Given the description of an element on the screen output the (x, y) to click on. 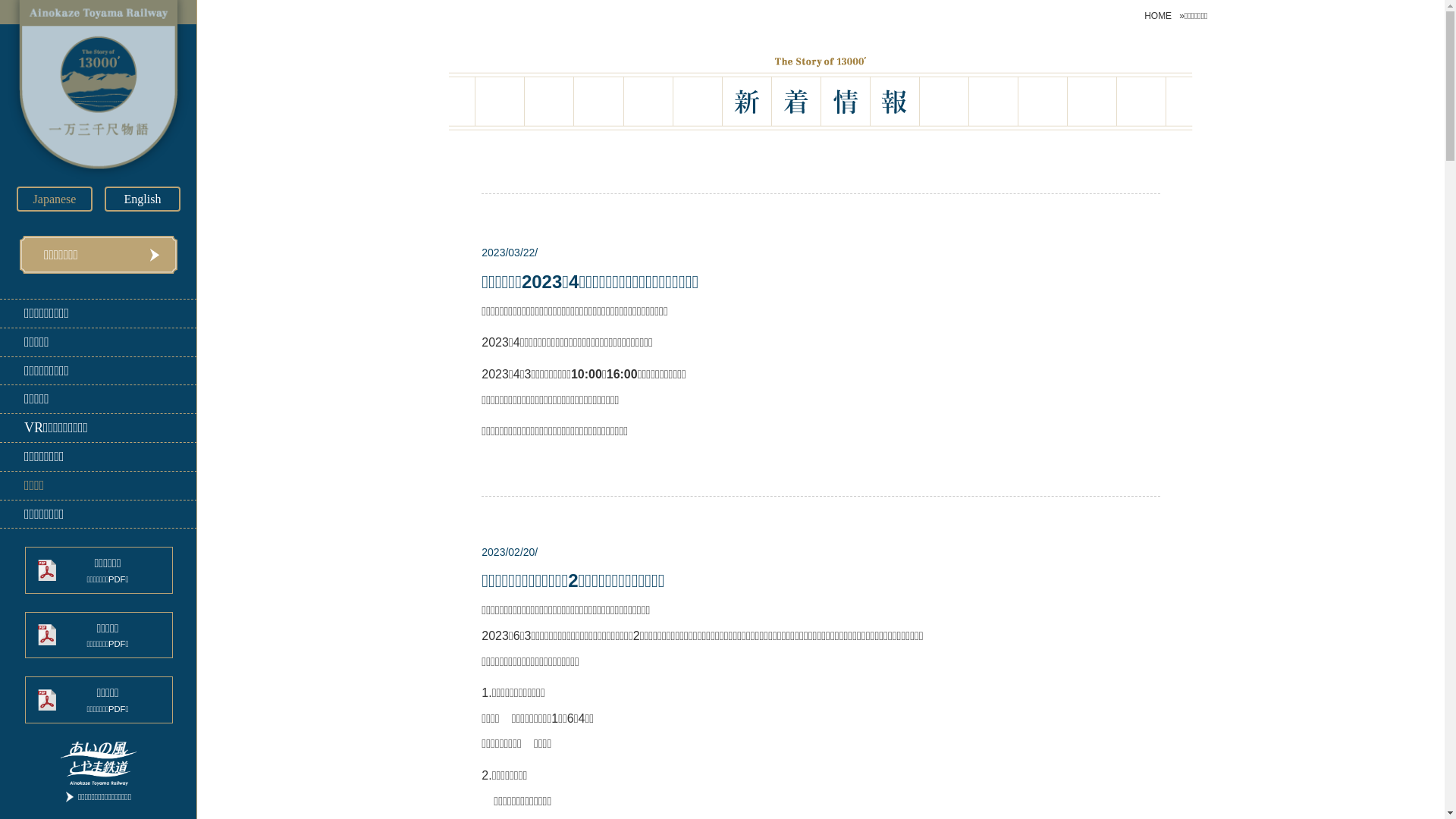
Japanese Element type: text (54, 198)
HOME Element type: text (1161, 15)
English Element type: text (142, 198)
